Given the description of an element on the screen output the (x, y) to click on. 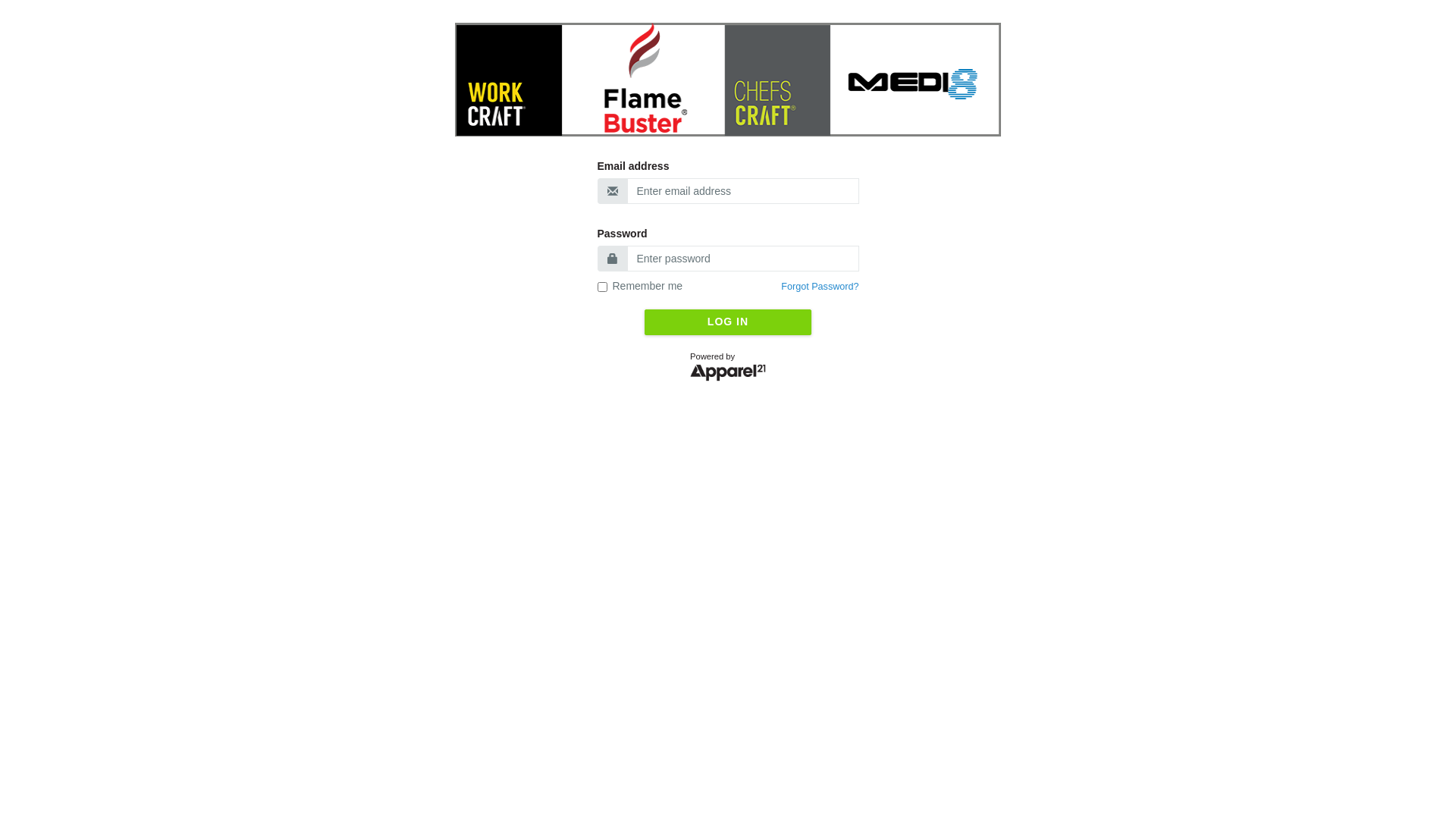
LOG IN Element type: text (727, 322)
Forgot Password? Element type: text (819, 286)
